Given the description of an element on the screen output the (x, y) to click on. 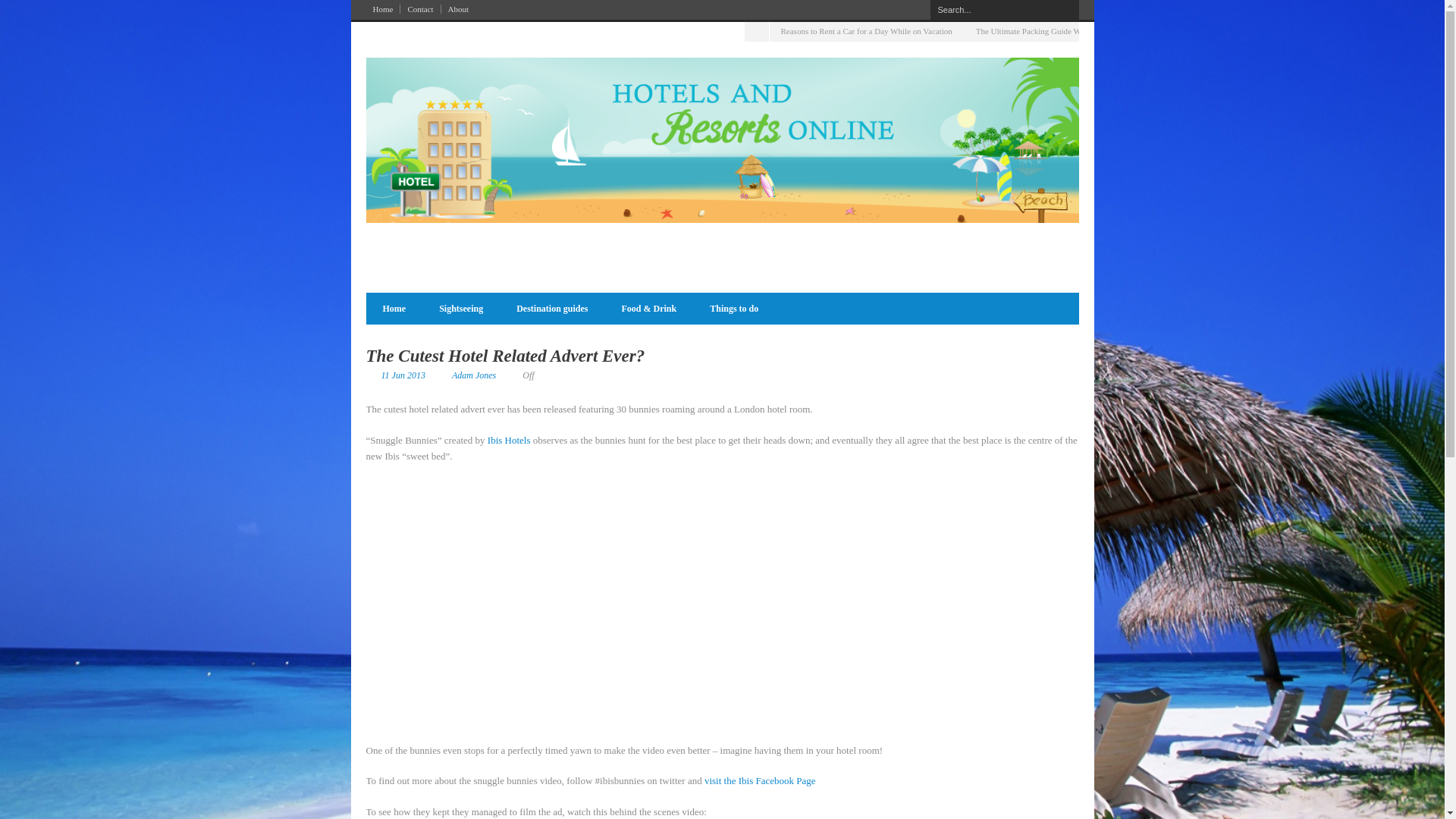
Home (382, 8)
The Cutest Hotel Related Advert Ever? (505, 355)
Reasons to Rent a Car for a Day While on Vacation (866, 31)
Sightseeing (460, 308)
Contact (420, 8)
visit the Ibis Facebook Page (759, 780)
Search... (1004, 9)
Home (393, 308)
11 Jun 2013 (402, 375)
Posts by Adam Jones (473, 375)
